Given the description of an element on the screen output the (x, y) to click on. 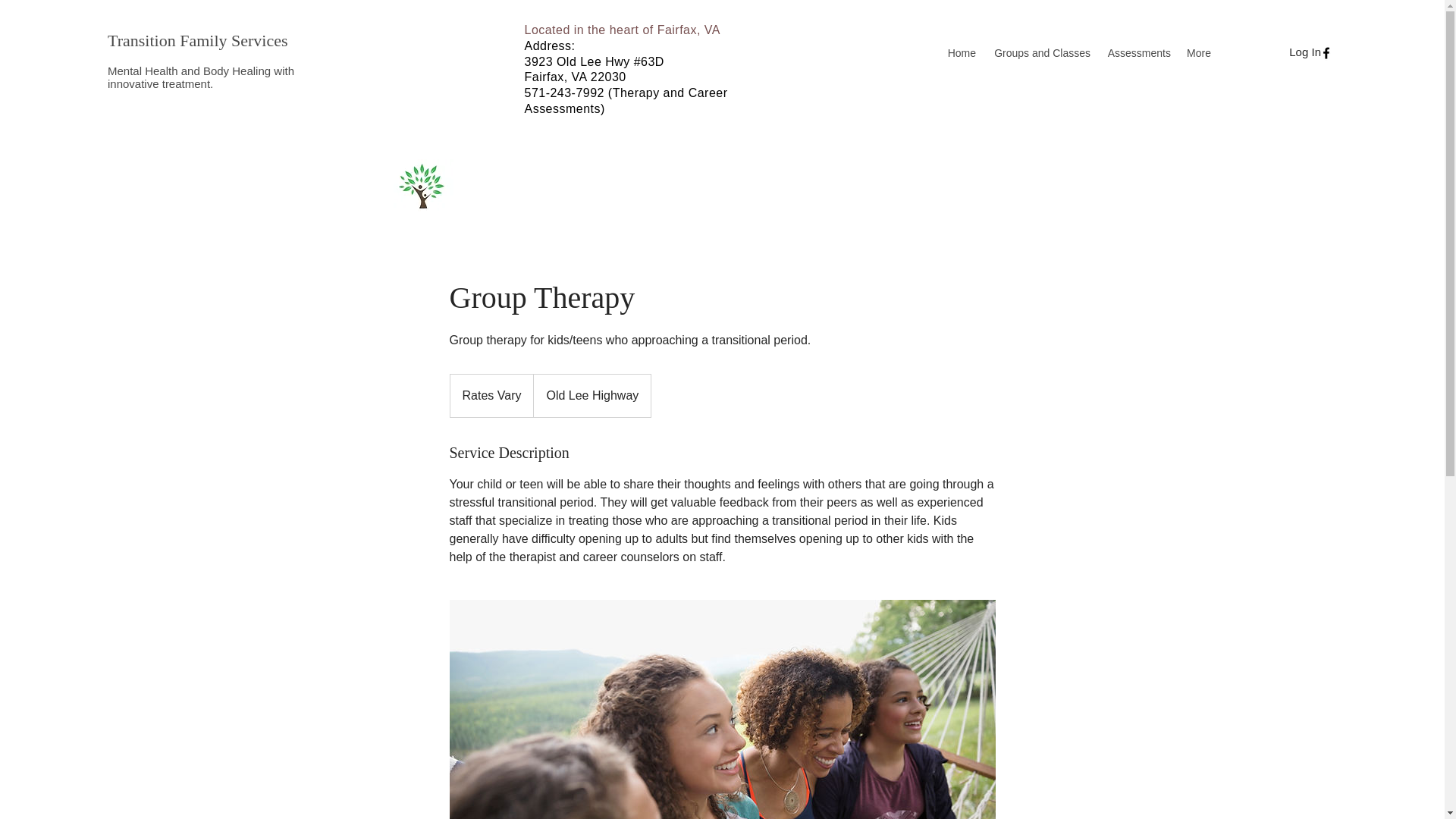
Assessments (1137, 52)
Groups and Classes (1040, 52)
Home (961, 52)
Log In (1305, 51)
